Given the description of an element on the screen output the (x, y) to click on. 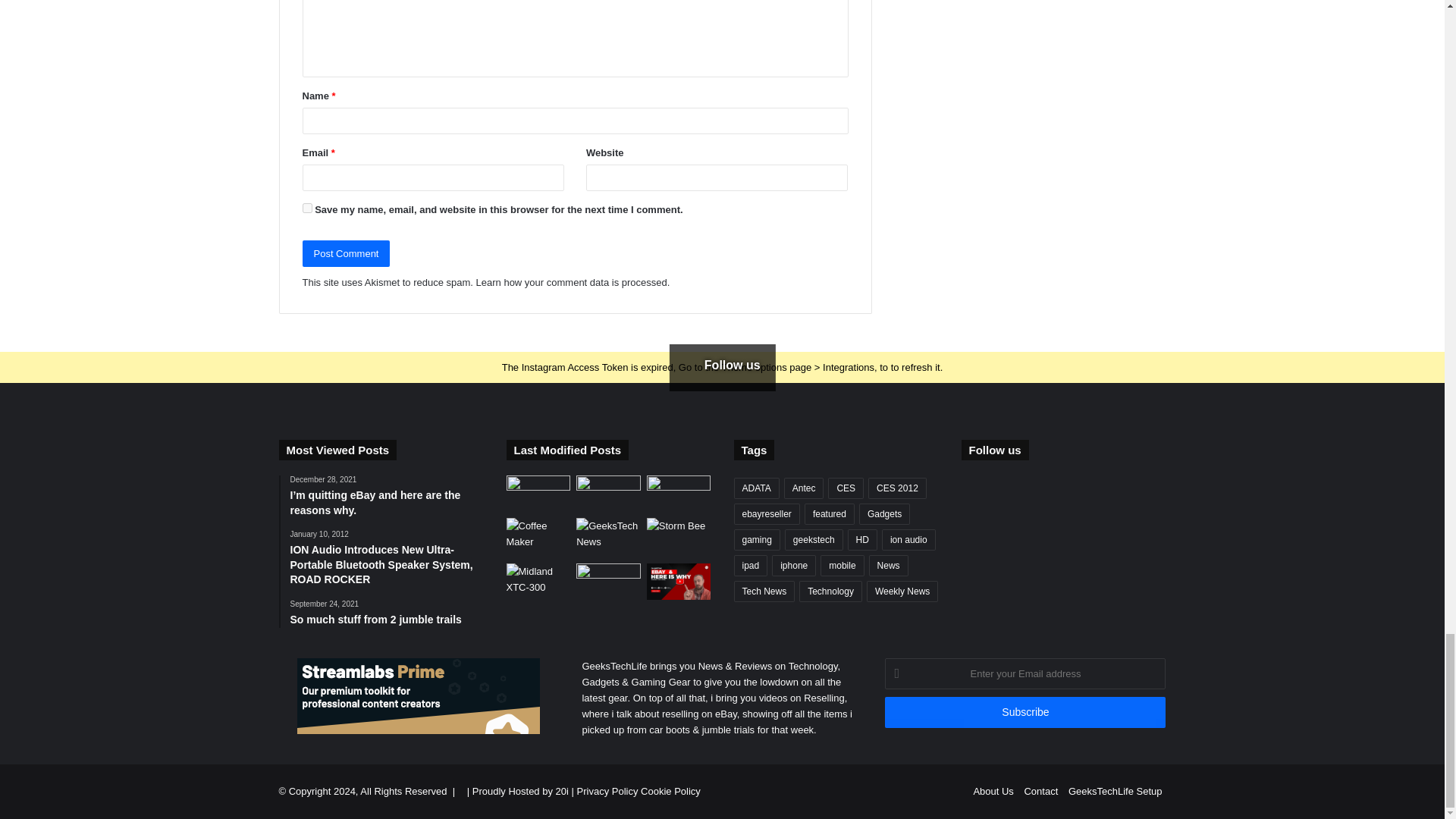
Post Comment (345, 253)
yes (306, 207)
Subscribe (1025, 712)
